Given the description of an element on the screen output the (x, y) to click on. 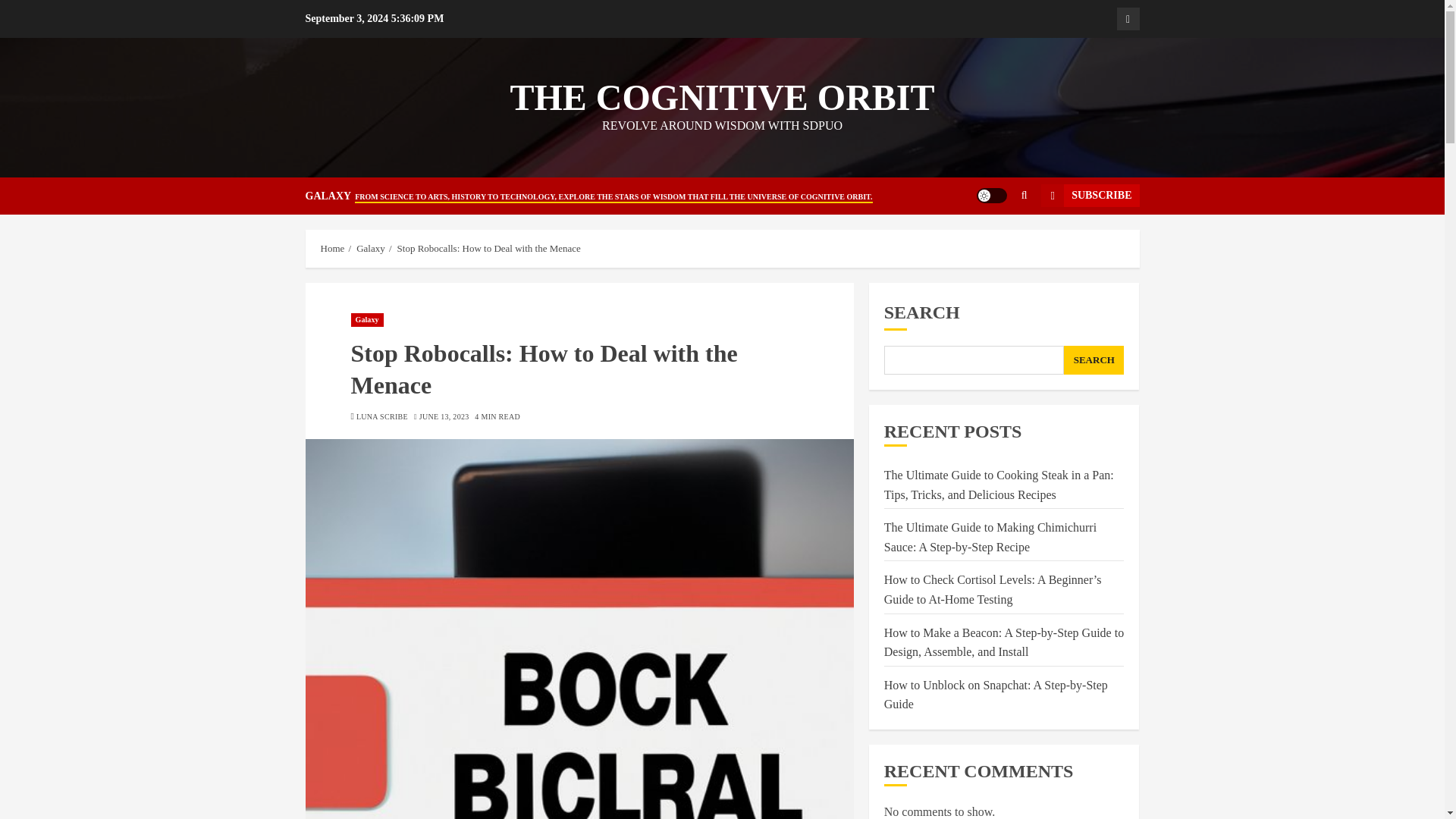
THE COGNITIVE ORBIT (721, 96)
JUNE 13, 2023 (443, 416)
How to Unblock on Snapchat: A Step-by-Step Guide (995, 694)
Galaxy (1127, 18)
Stop Robocalls: How to Deal with the Menace (488, 248)
Galaxy (370, 248)
SEARCH (1094, 359)
Galaxy (366, 319)
SUBSCRIBE (1089, 195)
